Given the description of an element on the screen output the (x, y) to click on. 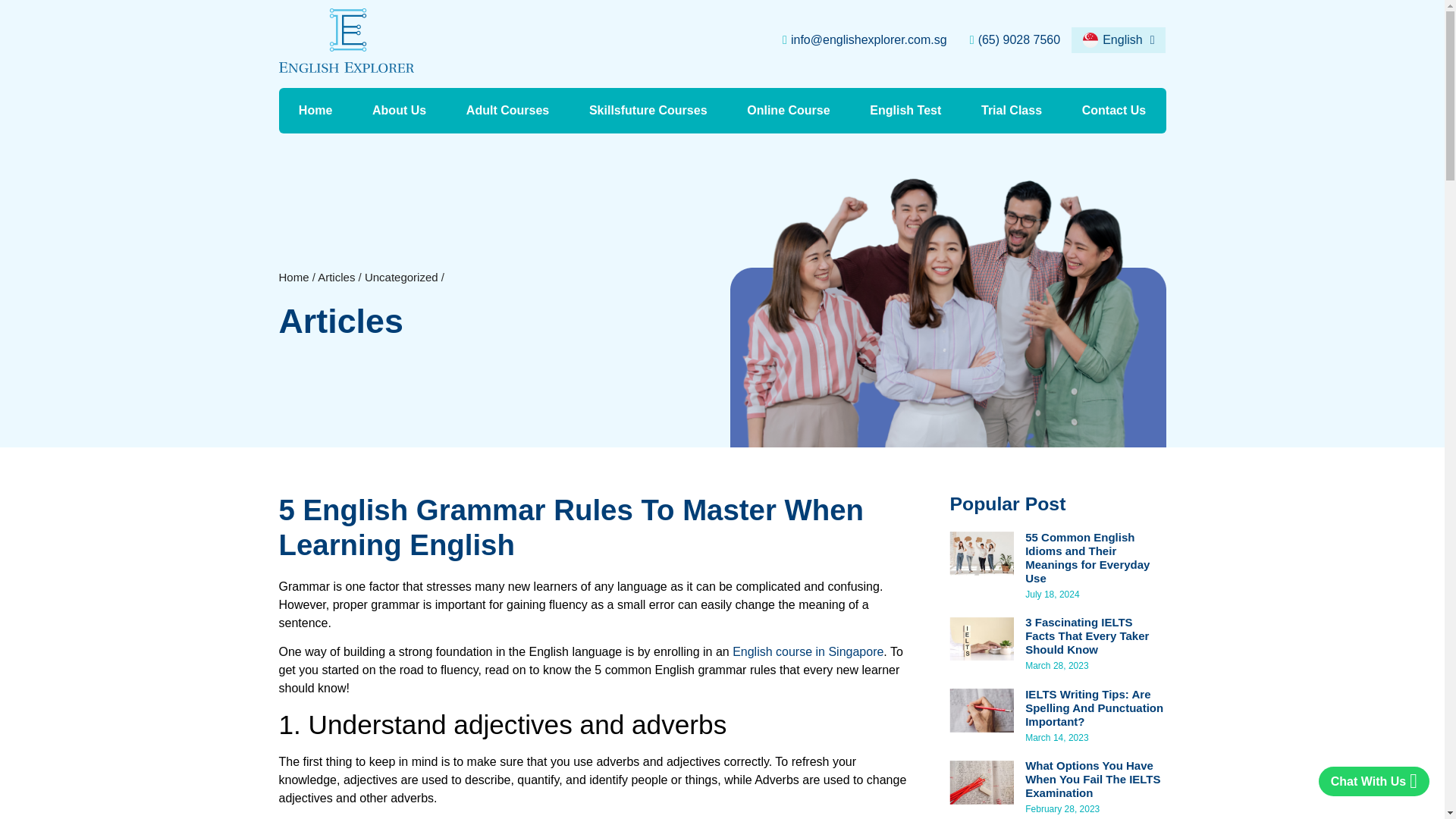
Go to Learn English with English Explorer. (293, 277)
Go to Articles. (336, 277)
English (1118, 40)
English Course In Singapore, English Course Singapore (807, 651)
Go to the Uncategorized Category archives. (401, 277)
